Given the description of an element on the screen output the (x, y) to click on. 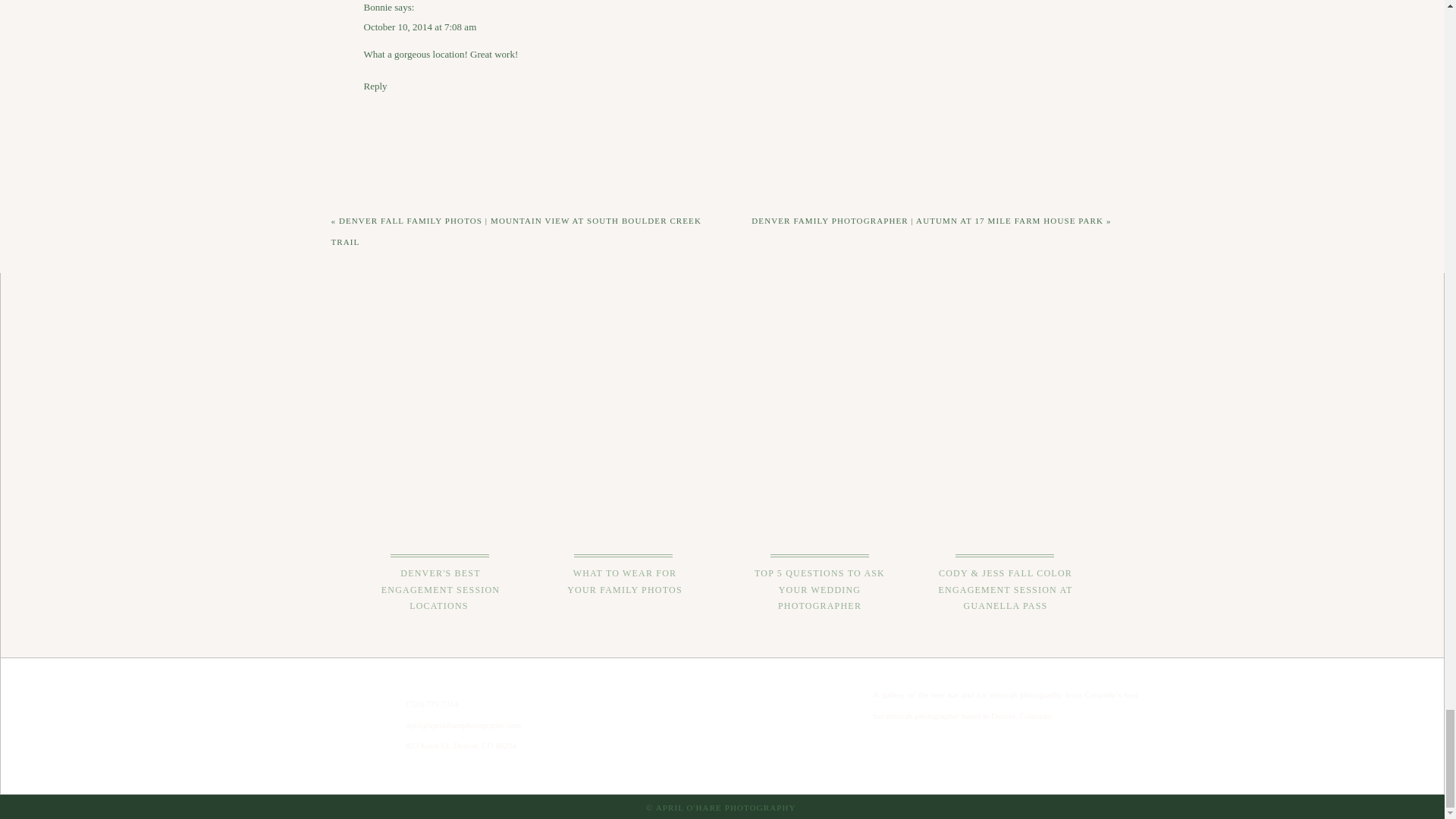
TOP 5 QUESTIONS TO ASK YOUR WEDDING PHOTOGRAPHER (820, 590)
Reply (375, 85)
October 10, 2014 at 7:08 am (420, 26)
Bonnie (378, 7)
